Given the description of an element on the screen output the (x, y) to click on. 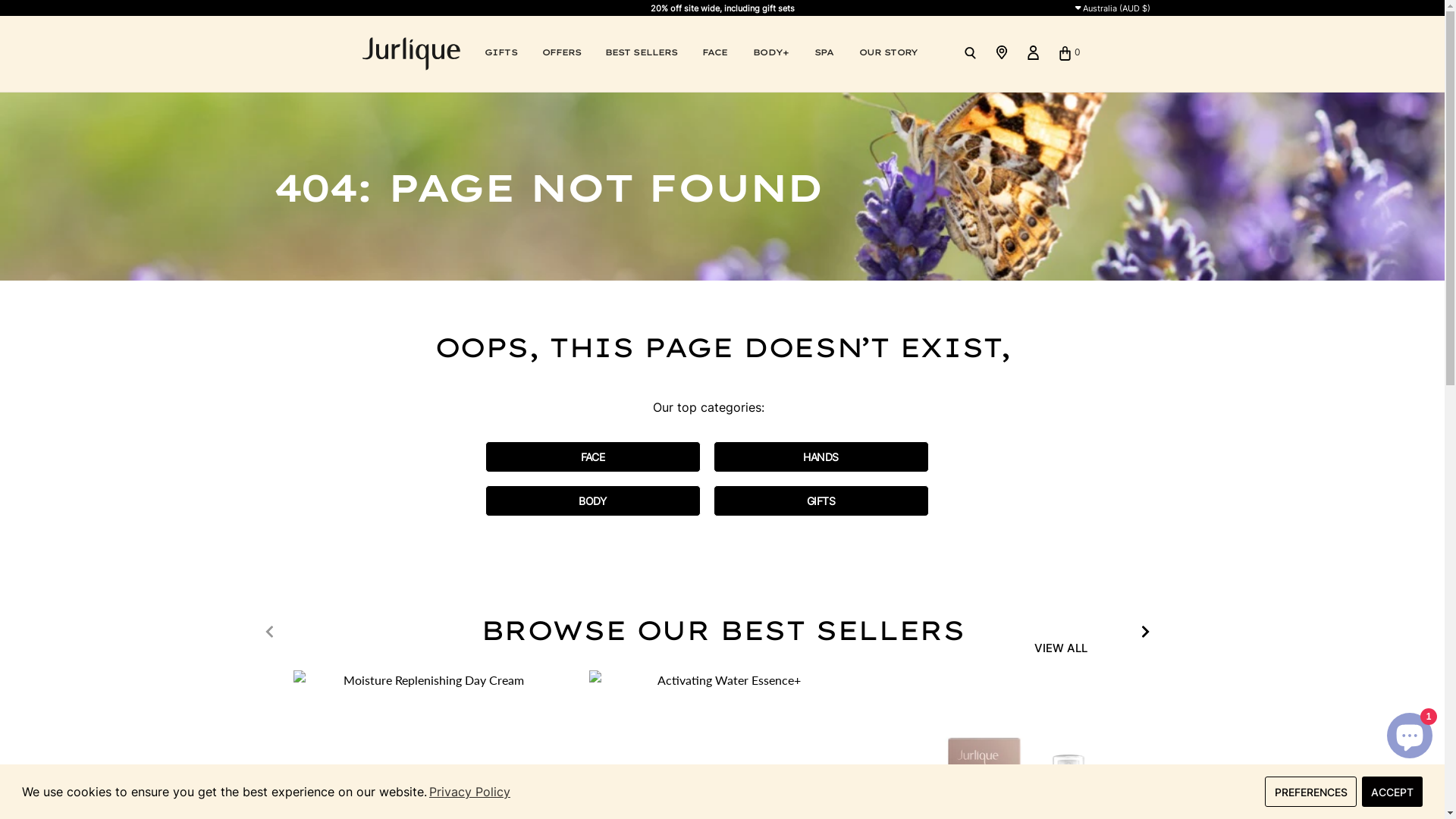
VIEW ALL Element type: text (1060, 648)
FACE Element type: text (592, 456)
Next Element type: text (1144, 631)
Previous Element type: text (268, 631)
OUR STORY Element type: text (888, 53)
BODY Element type: text (592, 500)
HANDS Element type: text (820, 456)
SPA Element type: text (823, 53)
Search Element type: hover (971, 52)
20% off site wide, including gift sets Element type: text (722, 8)
GIFTS Element type: text (500, 53)
0 Element type: text (1065, 51)
BEST SELLERS Element type: text (640, 53)
Log in Element type: hover (1034, 52)
Australia (AUD $) Element type: text (1109, 7)
BODY+ Element type: text (770, 53)
Shopify online store chat Element type: hover (1409, 732)
GIFTS Element type: text (820, 500)
OFFERS Element type: text (561, 53)
FACE Element type: text (714, 53)
